Given the description of an element on the screen output the (x, y) to click on. 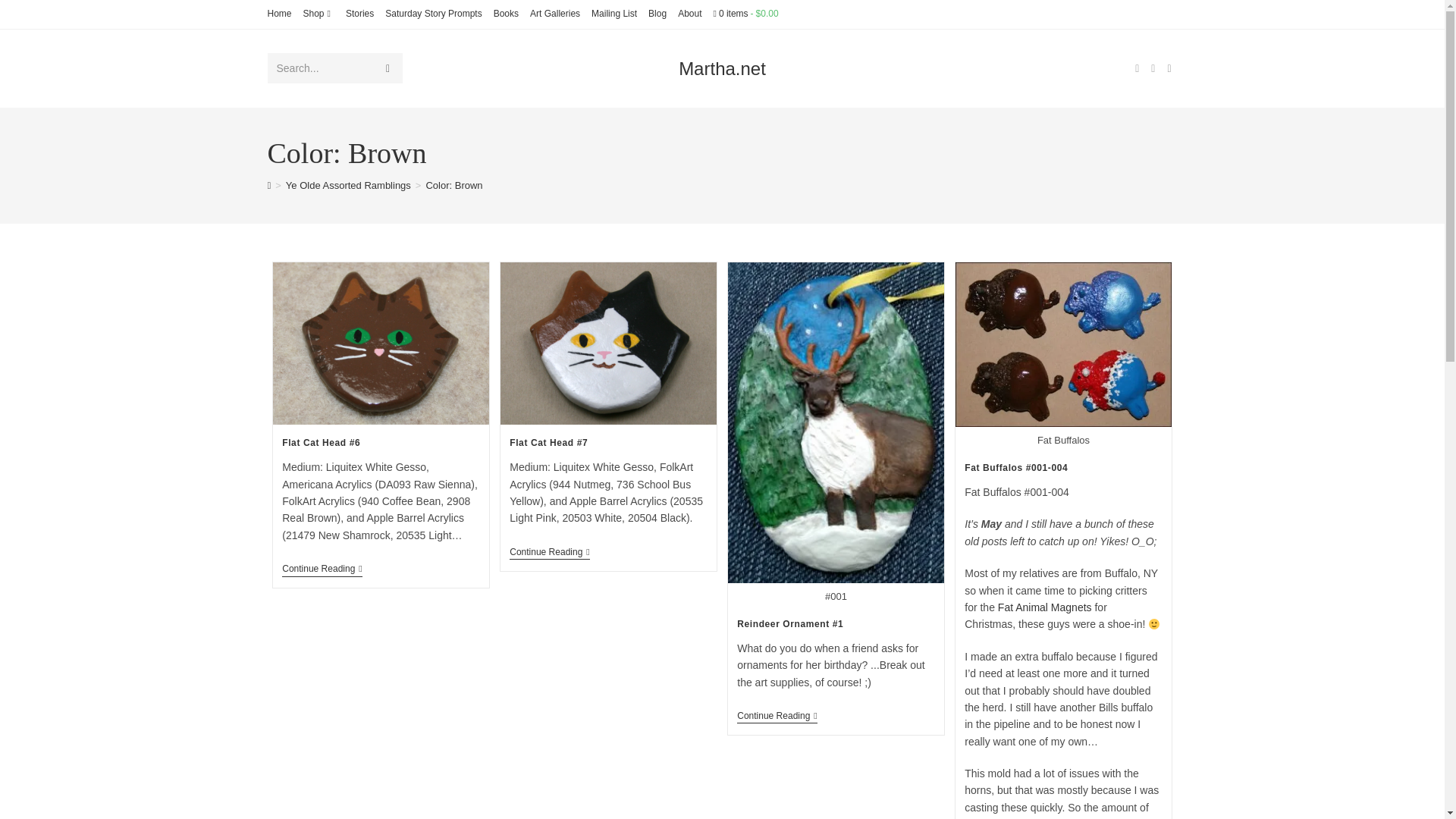
Shop (318, 13)
Ye Olde Assorted Ramblings (347, 184)
Start shopping (745, 13)
Martha.net (721, 68)
Submit search (386, 68)
Home (278, 13)
Saturday Story Prompts (433, 13)
Art Galleries (554, 13)
Books (505, 13)
About (689, 13)
Mailing List (614, 13)
Stories (360, 13)
Color: Brown (453, 184)
Blog (656, 13)
